Given the description of an element on the screen output the (x, y) to click on. 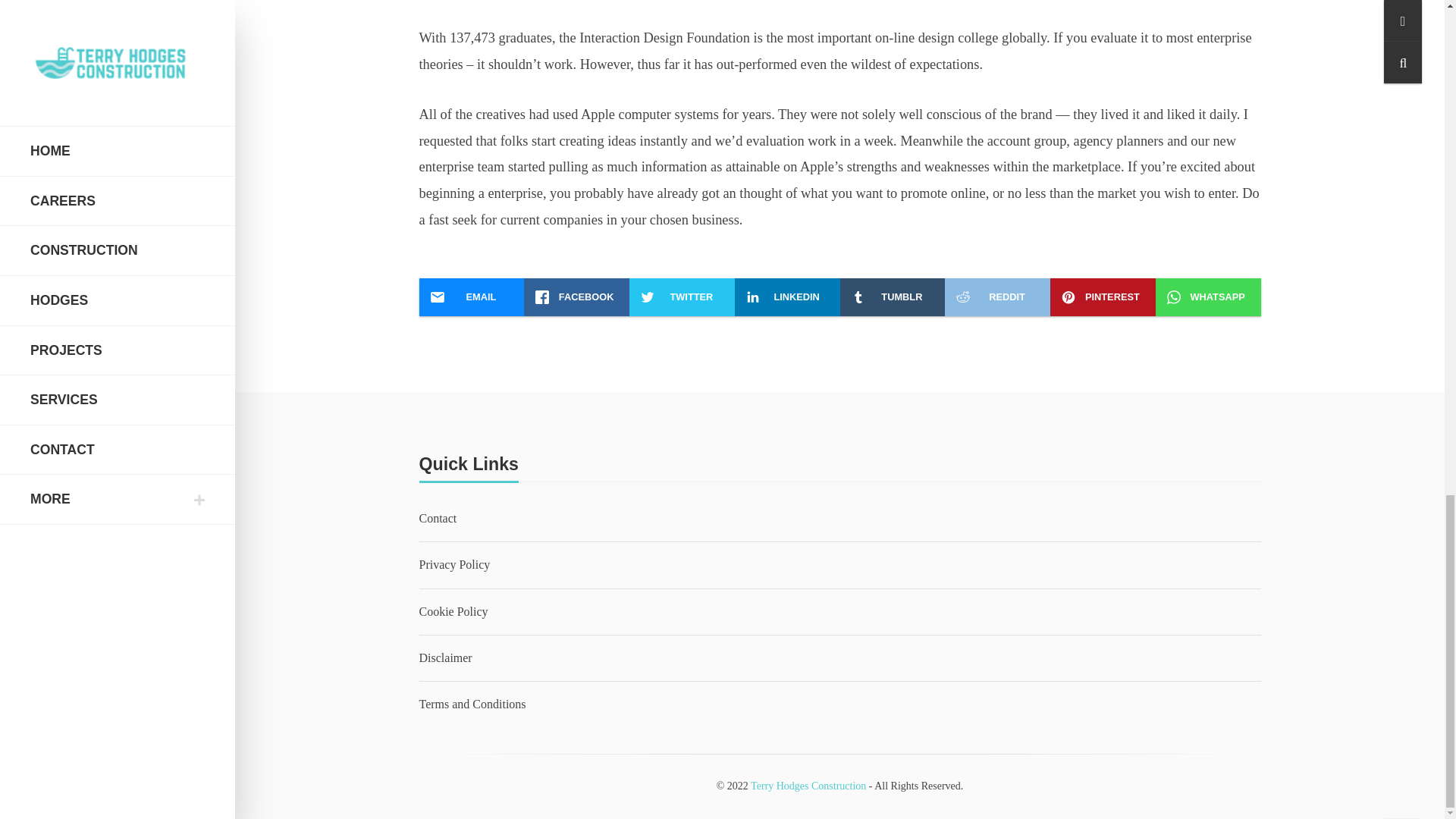
Terms and Conditions (472, 703)
Cookie Policy  (454, 611)
Disclaimer (445, 657)
Terry Hodges Construction (808, 785)
REDDIT (996, 297)
Contact (438, 517)
LINKEDIN (787, 297)
PINTEREST (1102, 297)
FACEBOOK (576, 297)
Privacy Policy (454, 563)
